Given the description of an element on the screen output the (x, y) to click on. 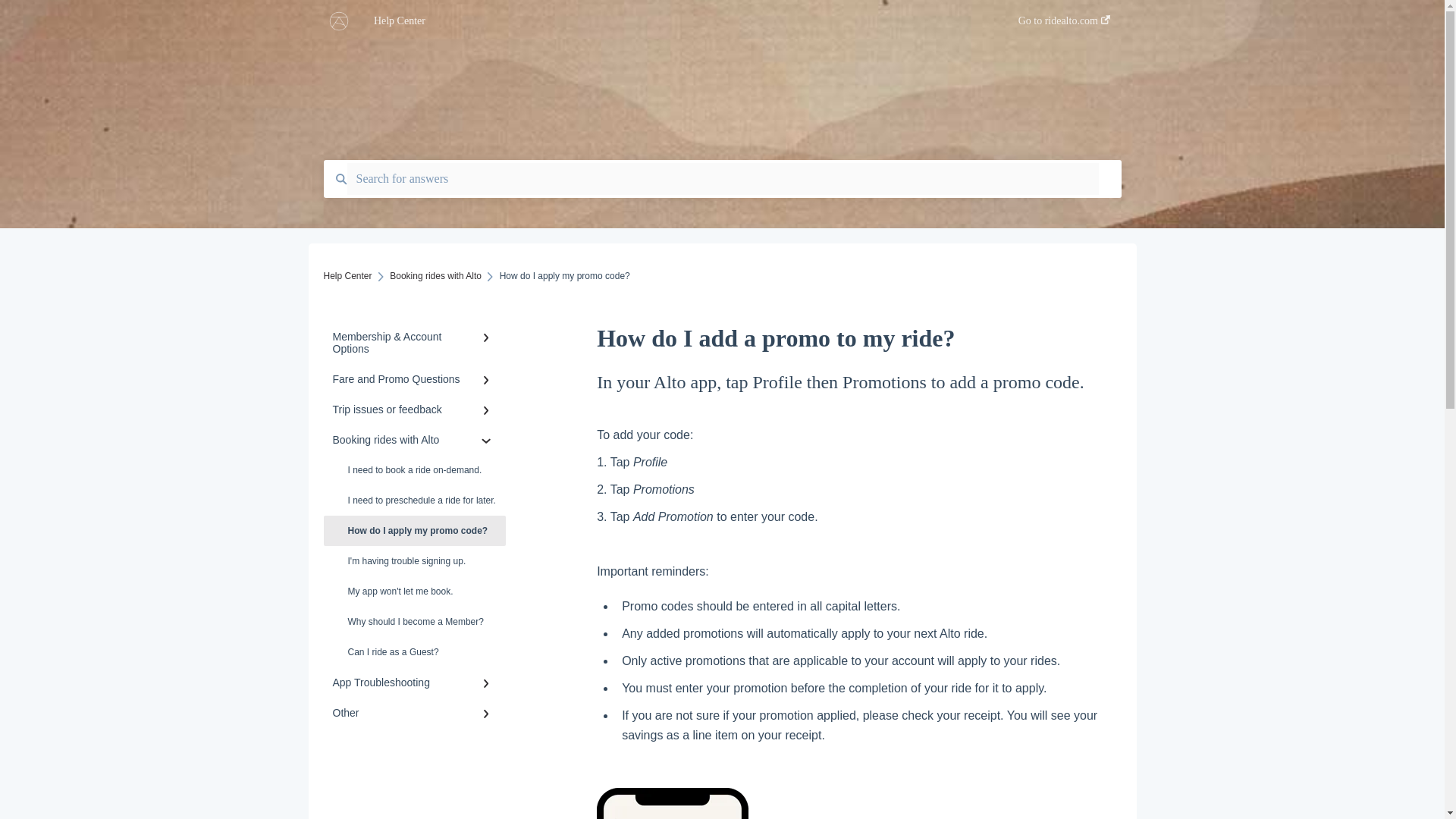
Fare and Promo Questions (414, 378)
Trip issues or feedback (414, 409)
Go to ridealto.com (1063, 25)
Help Center (673, 21)
Booking rides with Alto (435, 276)
Help Center (347, 276)
